Given the description of an element on the screen output the (x, y) to click on. 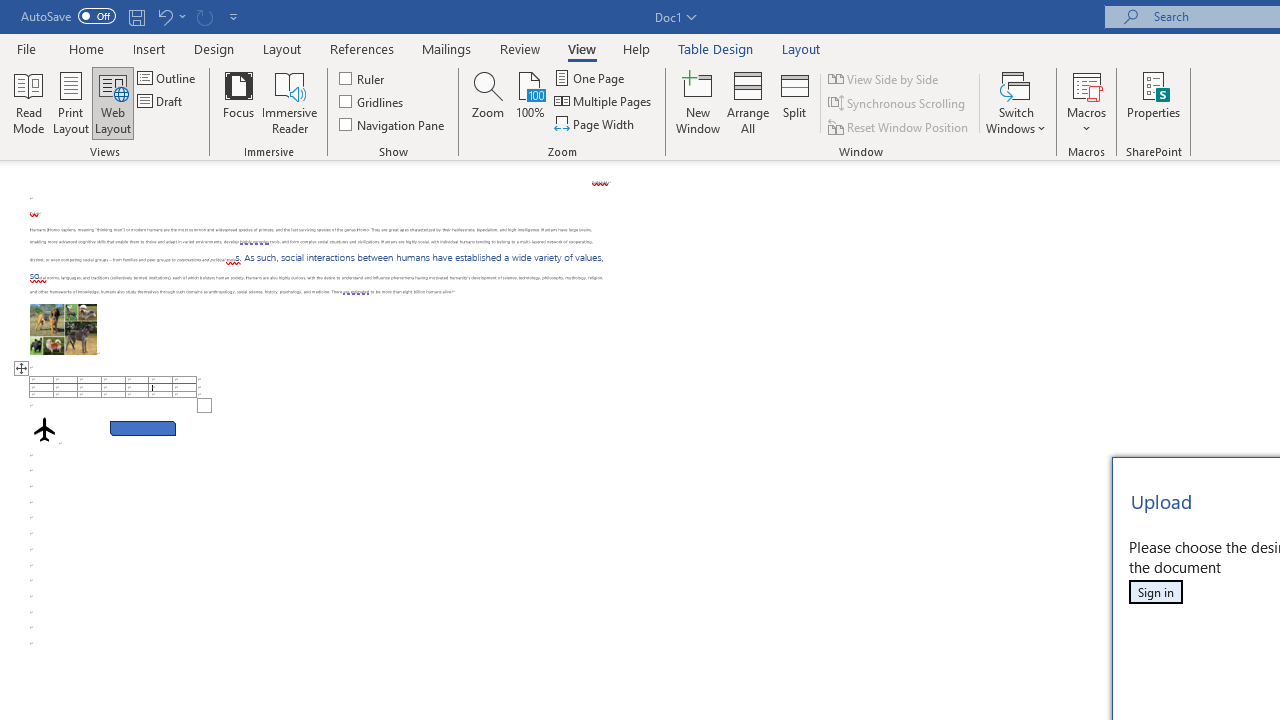
Zoom... (488, 102)
Mailings (447, 48)
Layout (801, 48)
Sign in (1155, 592)
Save (136, 15)
Undo Row Height Spinner (170, 15)
Quick Access Toolbar (131, 16)
100% (529, 102)
Ruler (362, 78)
New Window (698, 102)
Gridlines (372, 101)
Print Layout (70, 102)
Rectangle: Diagonal Corners Snipped 2 (143, 428)
Airplane with solid fill (43, 429)
More Options (1086, 121)
